Given the description of an element on the screen output the (x, y) to click on. 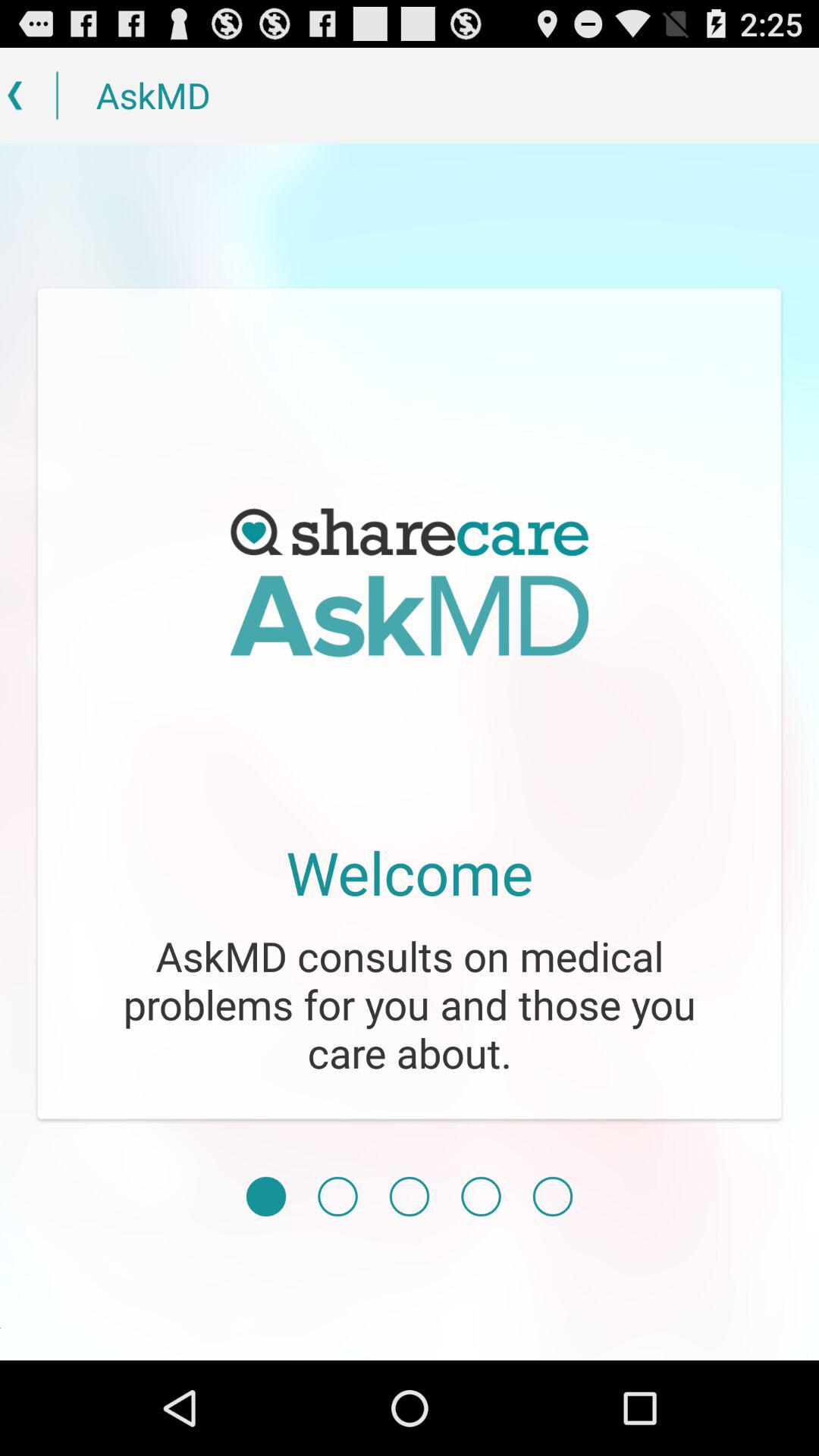
go to last (552, 1196)
